Given the description of an element on the screen output the (x, y) to click on. 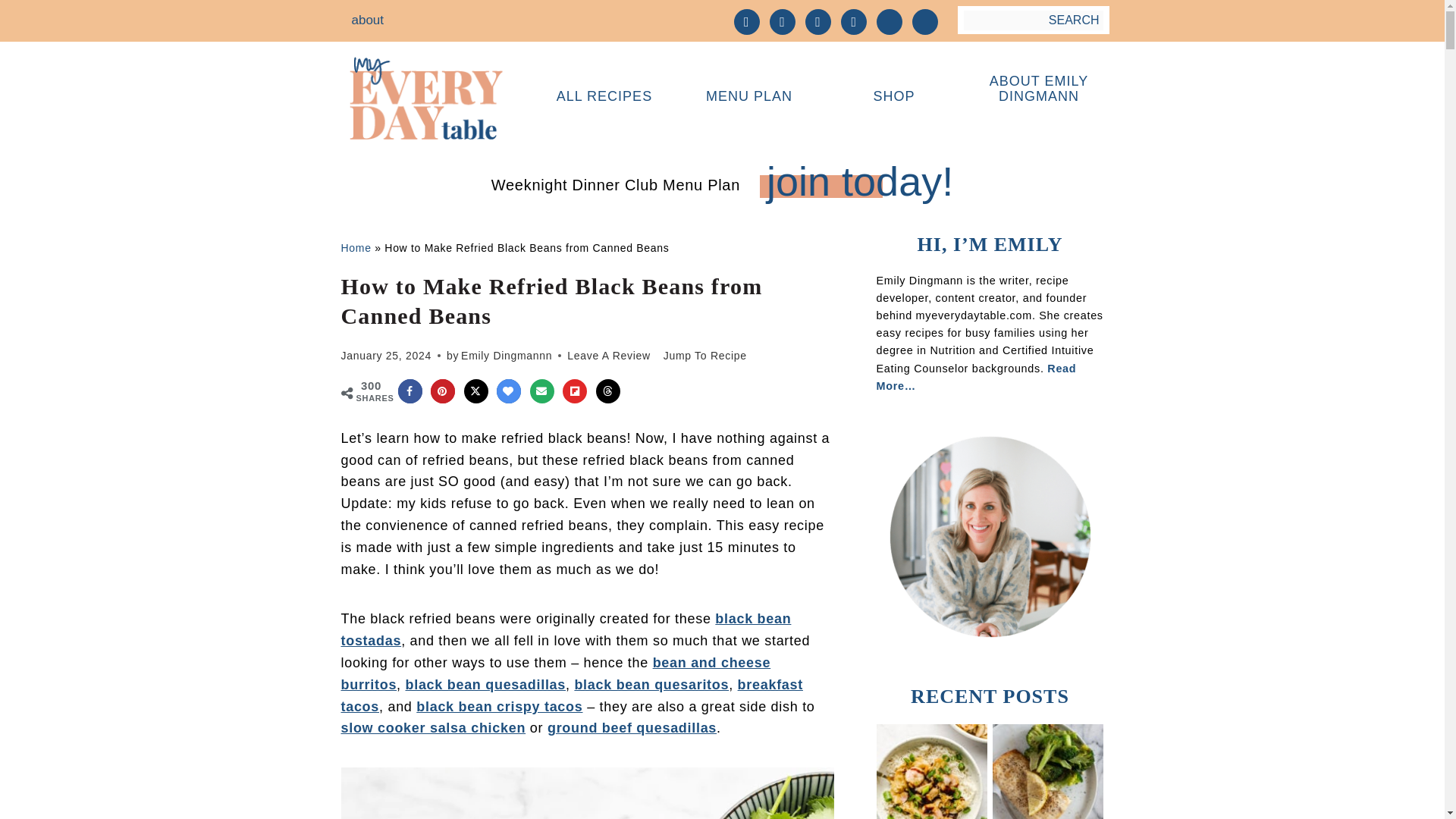
Save to Pinterest (442, 391)
Share on Facebook (409, 391)
MENU PLAN (748, 96)
pinterest (818, 20)
Facebook (746, 20)
Send over email (541, 391)
flipboard (889, 20)
My Everyday Table (425, 142)
Share on X (475, 391)
Instagram (782, 20)
twitter (924, 20)
Home (355, 246)
about (366, 19)
